Given the description of an element on the screen output the (x, y) to click on. 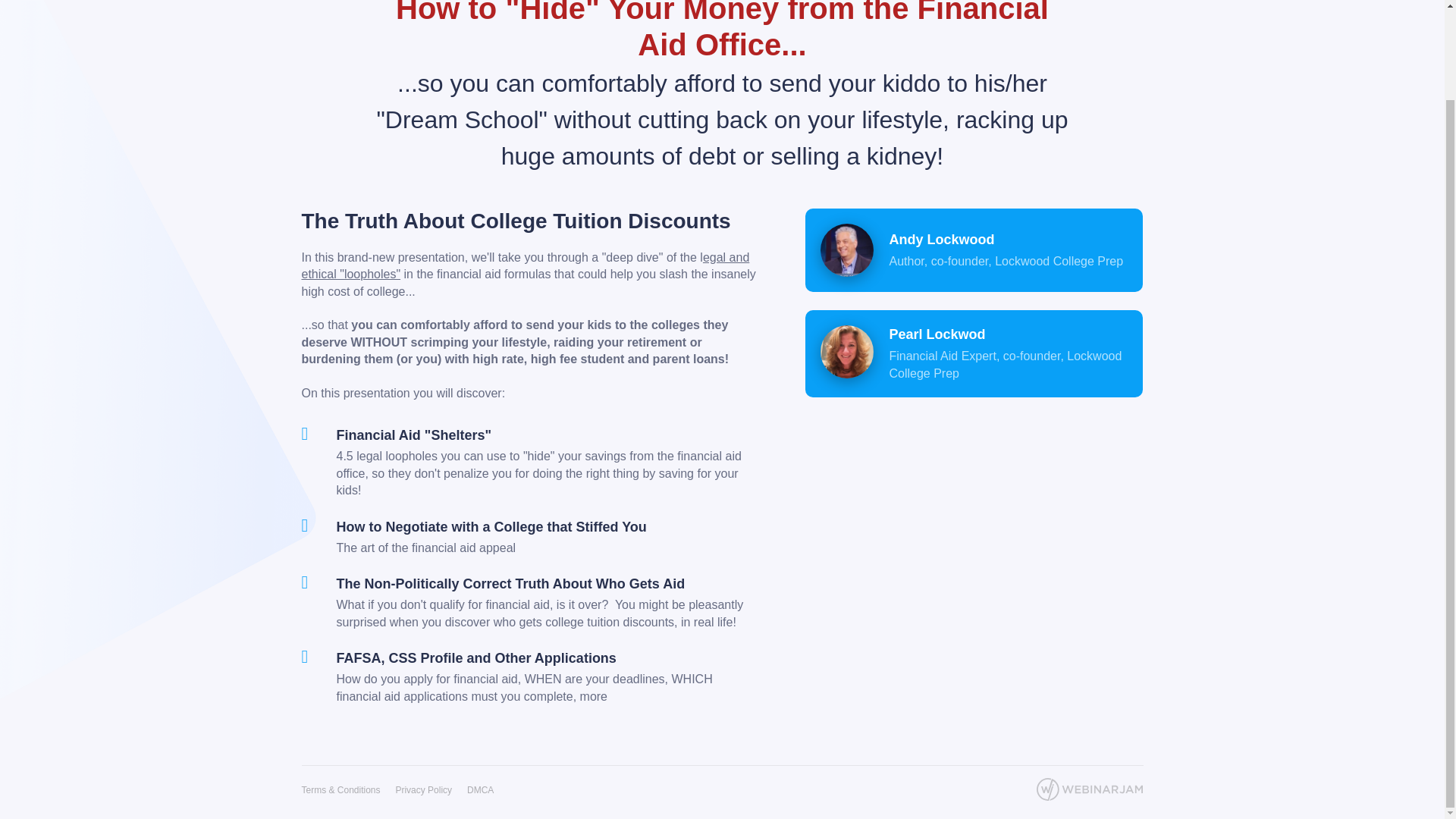
DMCA (480, 788)
Privacy Policy (422, 788)
Pearl Lockwod (847, 351)
Andy Lockwood (847, 249)
